Given the description of an element on the screen output the (x, y) to click on. 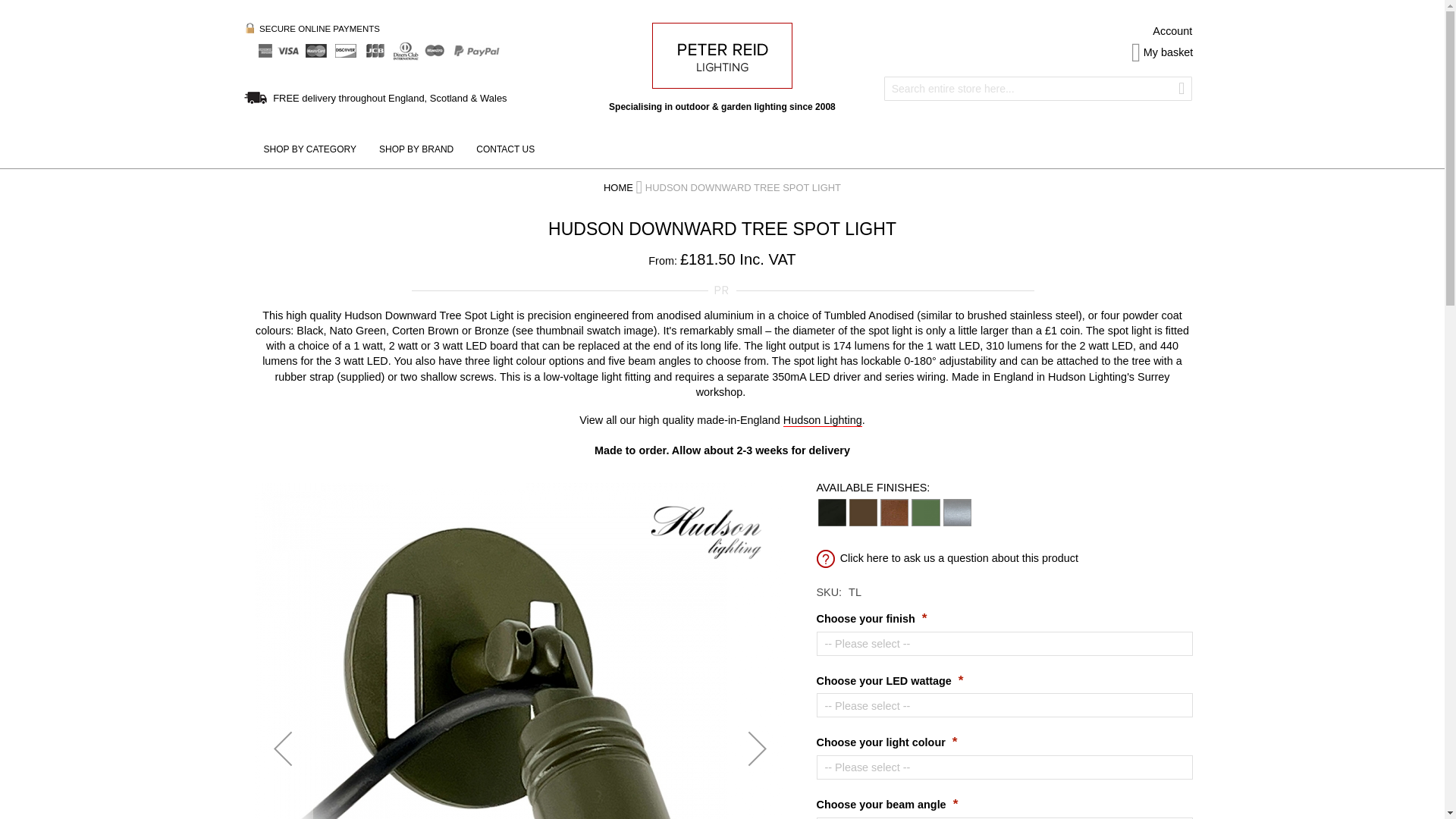
Go to Home Page (618, 187)
Account (1172, 30)
CONTACT US (505, 149)
My basket (1161, 52)
SHOP BY CATEGORY (308, 149)
SHOP BY BRAND (416, 149)
Peter Reid Lighting (722, 55)
SHOP BY CATEGORY (308, 149)
CONTACT US (505, 149)
SHOP BY BRAND (416, 149)
Peter Reid Lighting (722, 55)
